Given the description of an element on the screen output the (x, y) to click on. 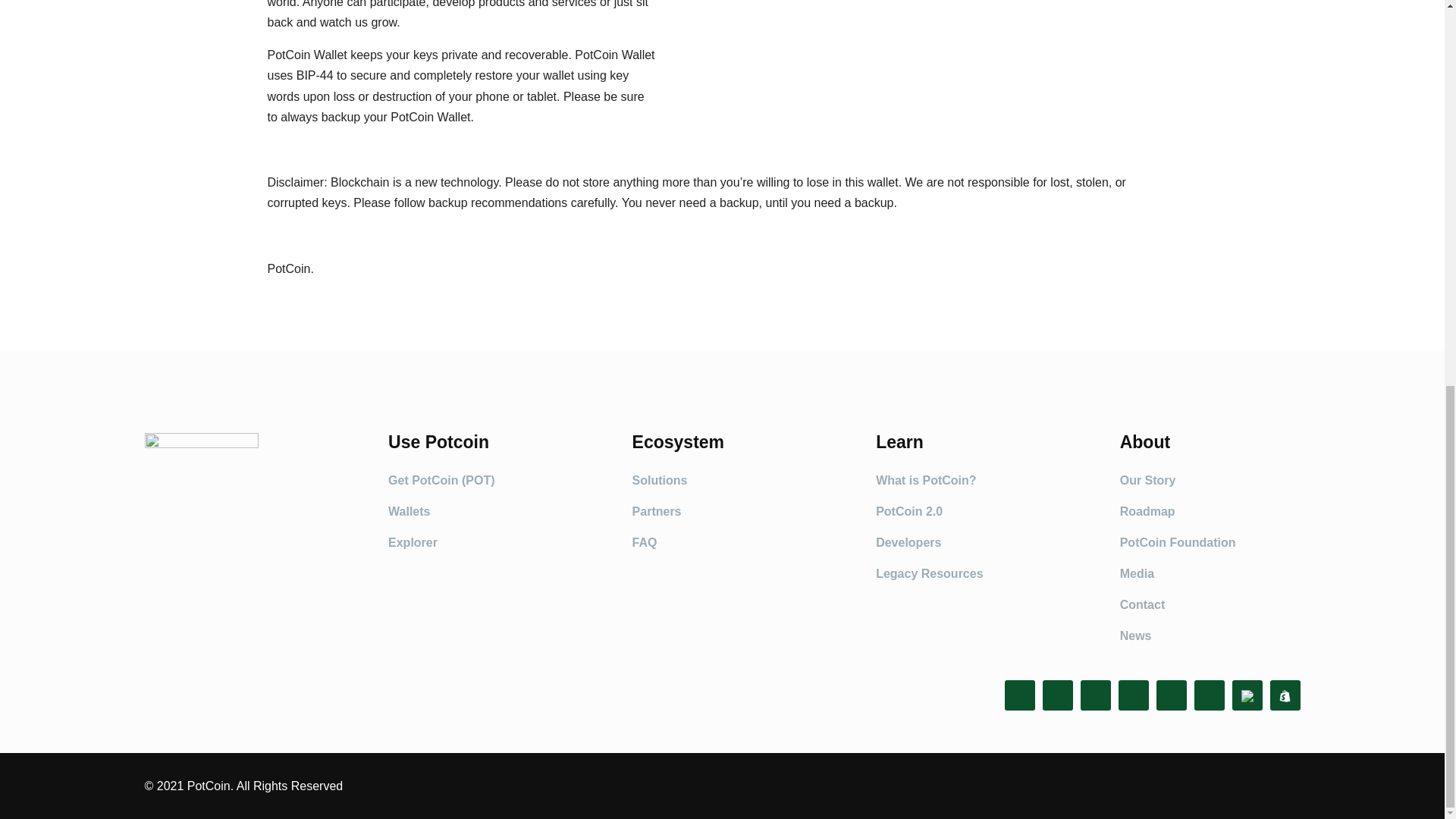
What is PotCoin? (925, 480)
Our Story (1147, 480)
PotCoin Foundation (1177, 542)
Our Story (1147, 480)
Solutions (659, 480)
Contact (1142, 604)
PotCoin 2.0 (909, 511)
Legacy Resources (929, 573)
Partners (656, 511)
Wallets (408, 511)
